Given the description of an element on the screen output the (x, y) to click on. 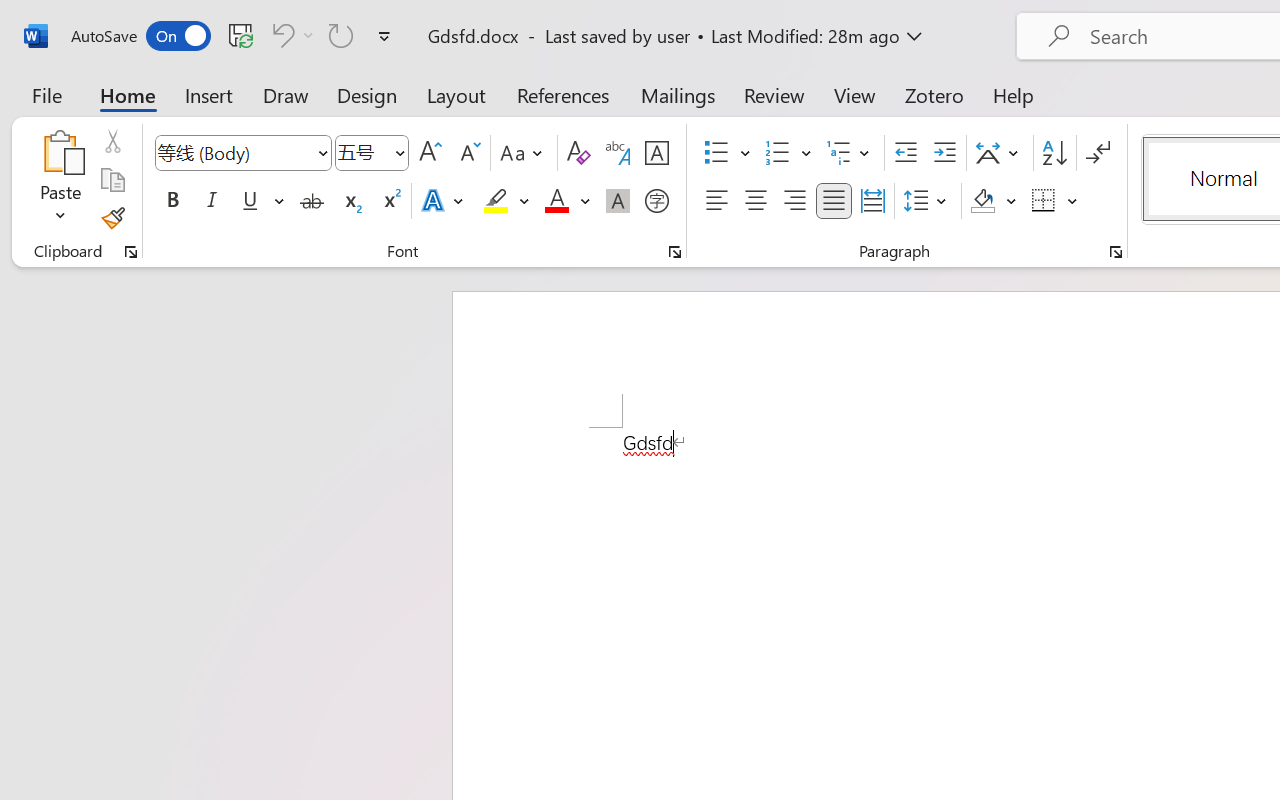
Can't Repeat (341, 35)
